Given the description of an element on the screen output the (x, y) to click on. 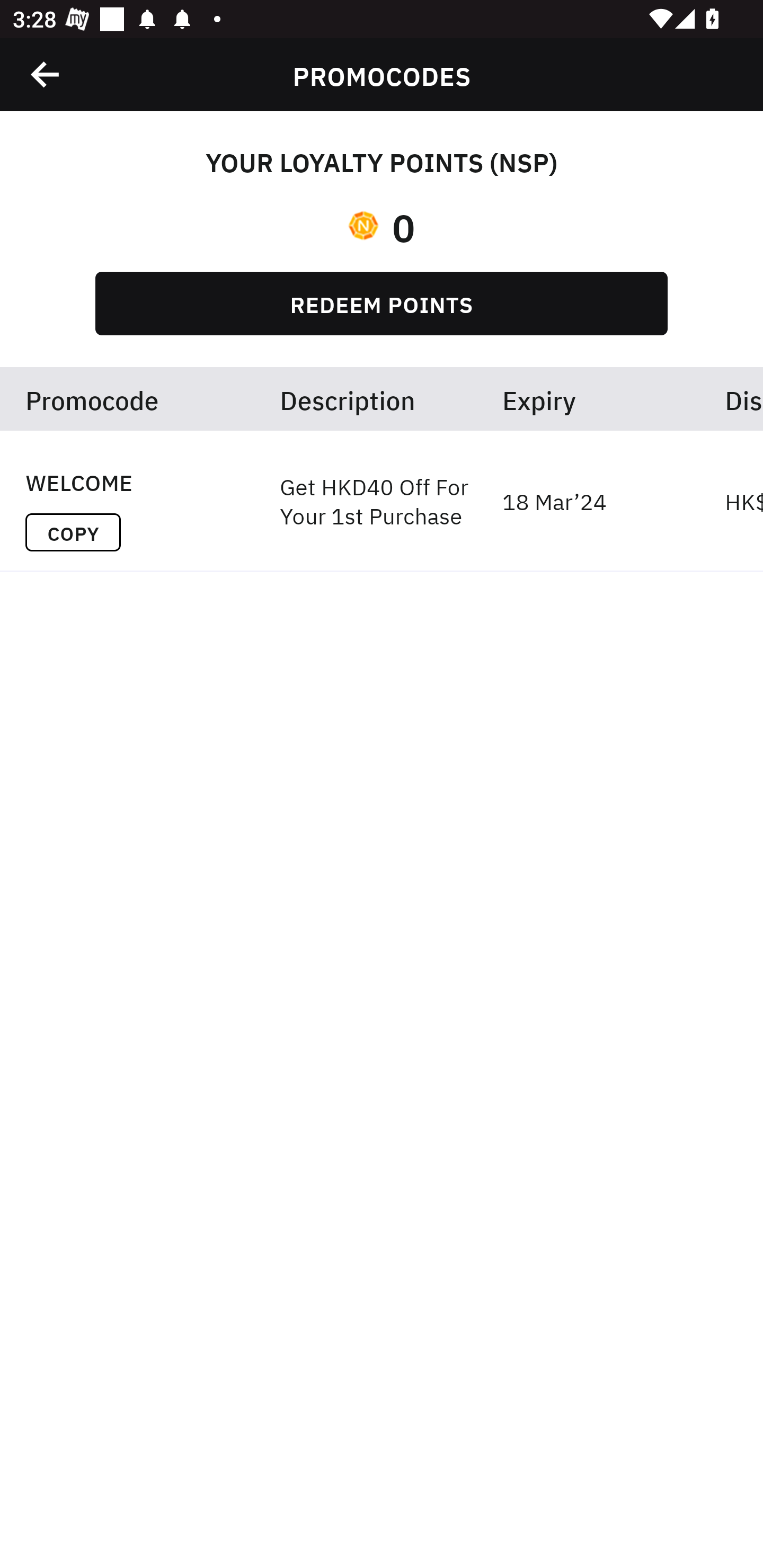
 (46, 74)
REDEEM POINTS (381, 303)
COPY (72, 531)
